Given the description of an element on the screen output the (x, y) to click on. 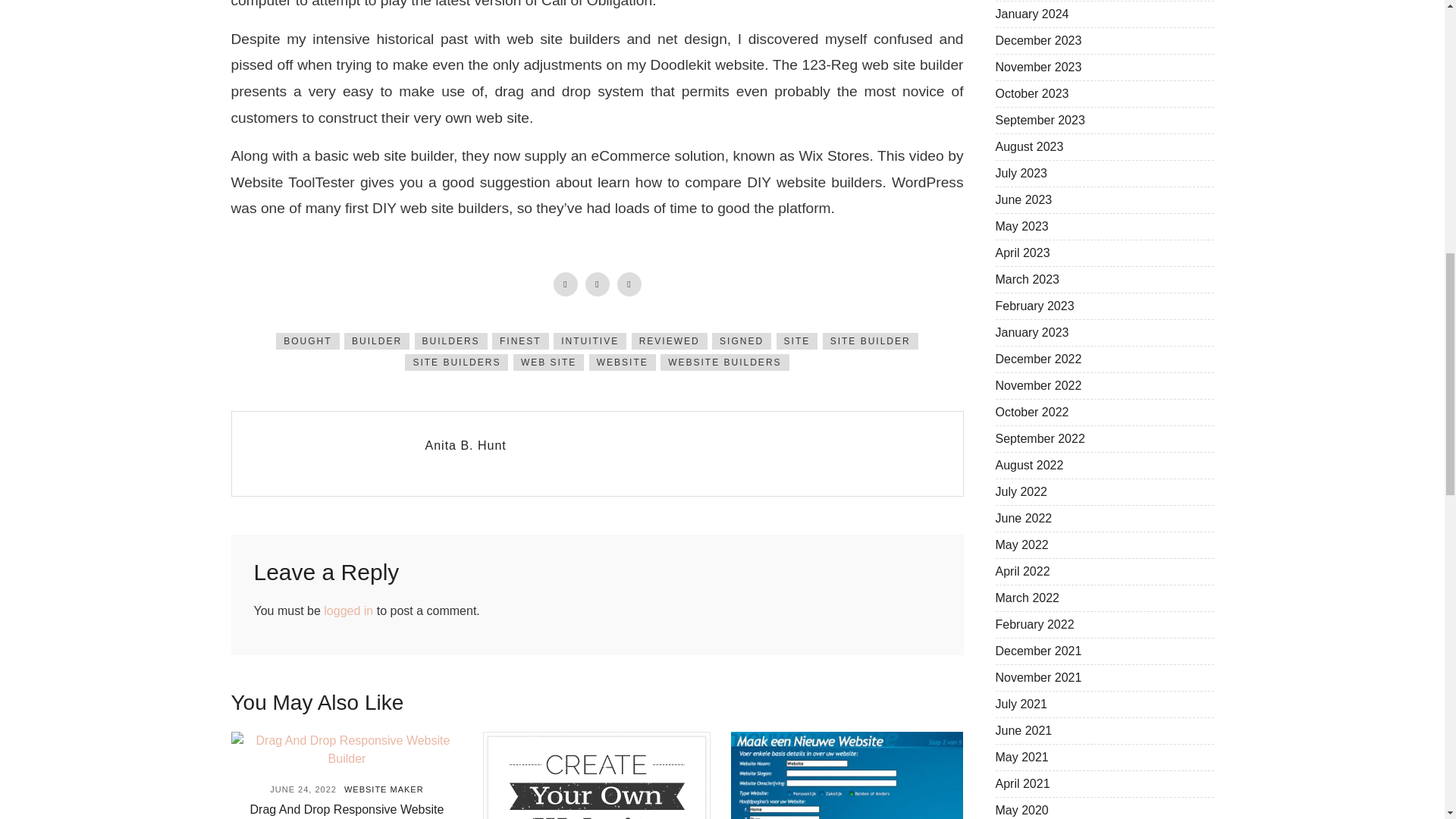
The Best Web site Builder Of 2018 (846, 775)
Drag And Drop Responsive Website Builder (346, 750)
Cell Website Builder (596, 775)
